Given the description of an element on the screen output the (x, y) to click on. 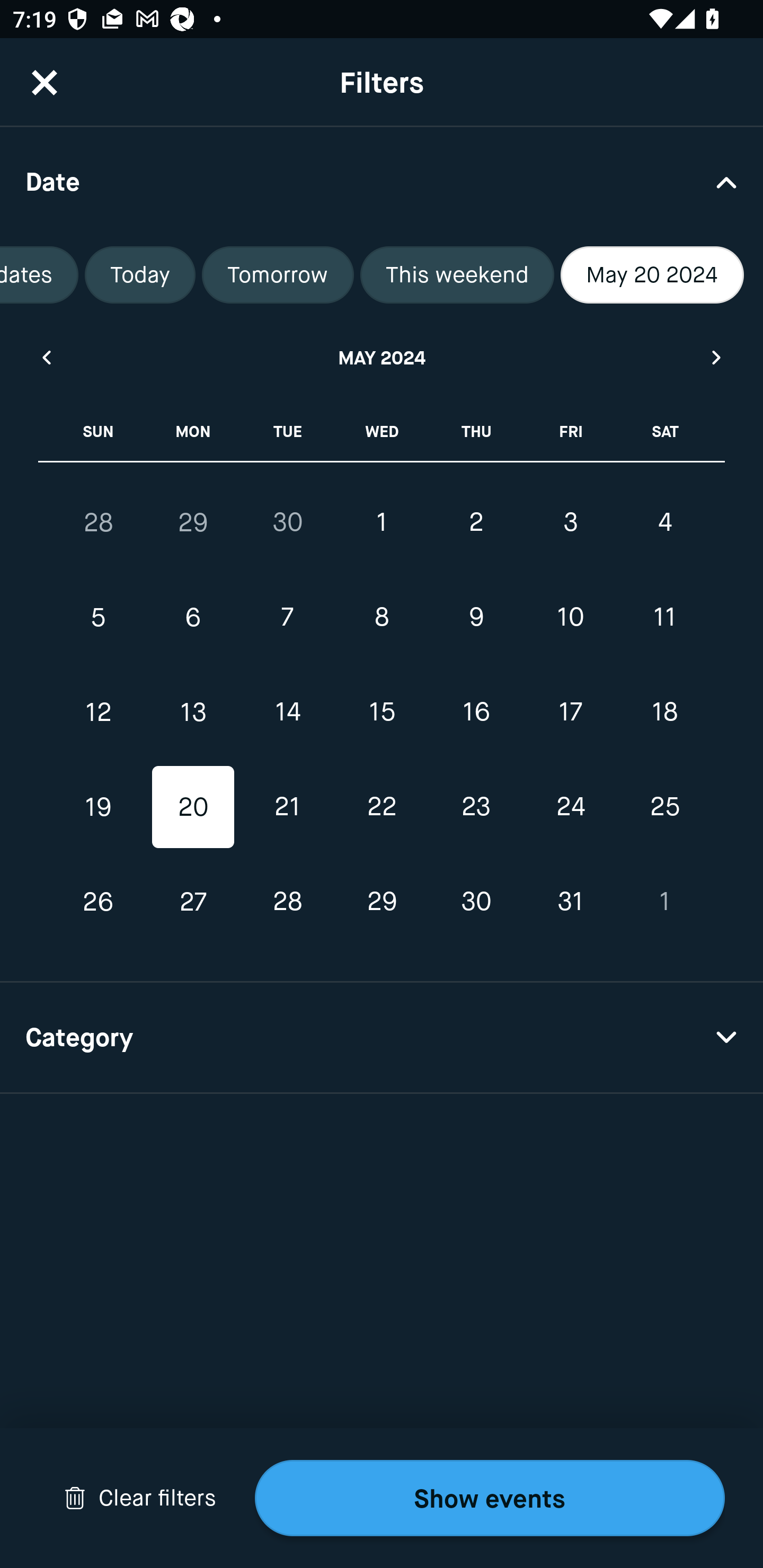
CloseButton (44, 82)
Date Drop Down Arrow (381, 181)
All dates (39, 274)
Today (139, 274)
Tomorrow (278, 274)
This weekend (456, 274)
May 20 2024 (651, 274)
Previous (45, 357)
Next (717, 357)
28 (98, 522)
29 (192, 522)
30 (287, 522)
1 (381, 522)
2 (475, 522)
3 (570, 522)
4 (664, 522)
5 (98, 617)
6 (192, 617)
7 (287, 617)
8 (381, 617)
9 (475, 617)
10 (570, 617)
11 (664, 617)
12 (98, 711)
13 (192, 711)
14 (287, 711)
15 (381, 711)
16 (475, 711)
17 (570, 711)
18 (664, 711)
19 (98, 806)
20 (192, 806)
21 (287, 806)
22 (381, 806)
23 (475, 806)
24 (570, 806)
25 (664, 806)
26 (98, 901)
27 (192, 901)
28 (287, 901)
29 (381, 901)
30 (475, 901)
31 (570, 901)
1 (664, 901)
Category Drop Down Arrow (381, 1038)
Drop Down Arrow Clear filters (139, 1497)
Show events (489, 1497)
